Given the description of an element on the screen output the (x, y) to click on. 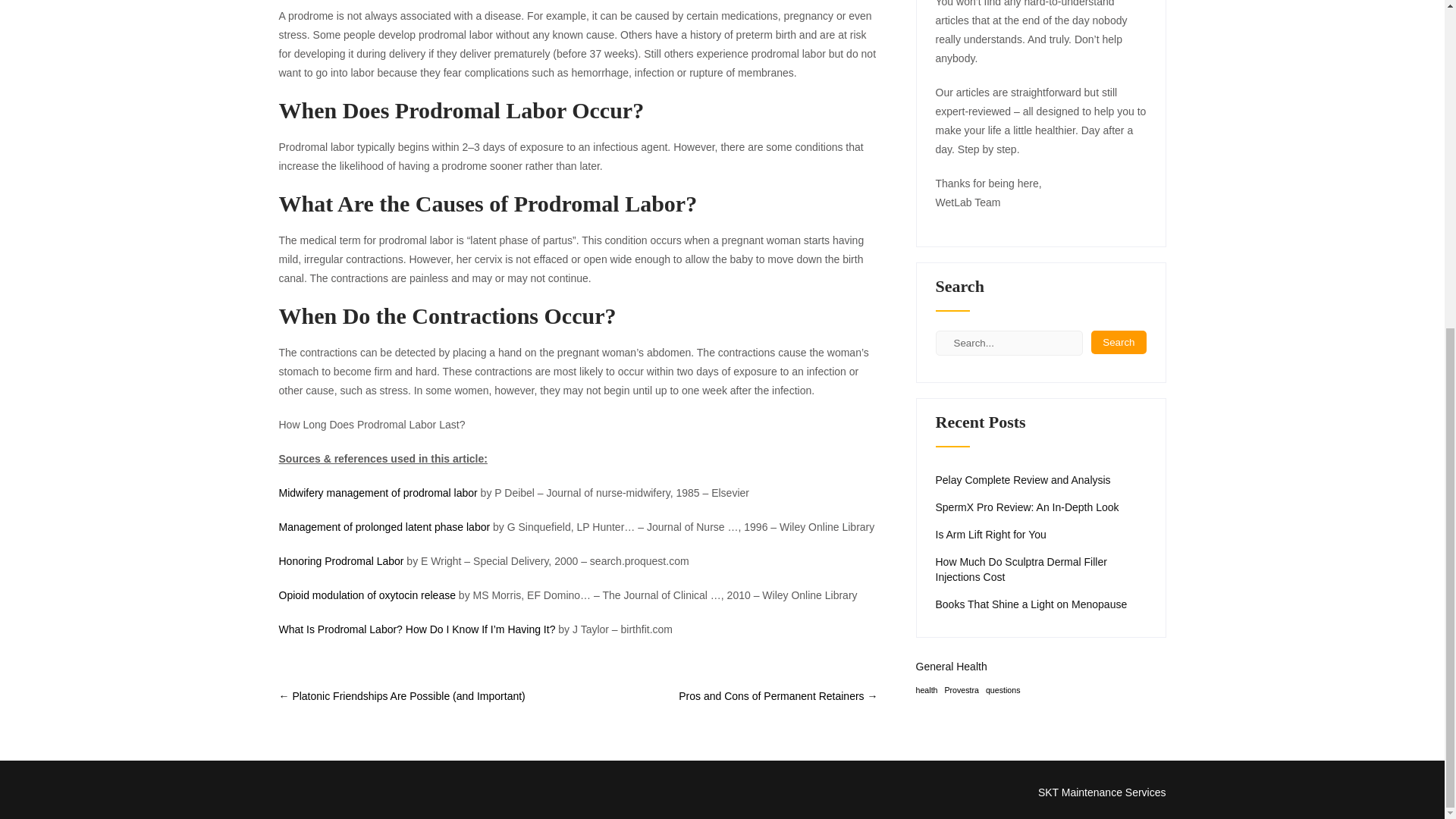
Provestra (960, 690)
Opioid modulation of oxytocin release (367, 594)
General Health (951, 666)
Search (1117, 341)
Search (1117, 341)
Pelay Complete Review and Analysis (1023, 479)
health (926, 690)
questions (1002, 690)
Books That Shine a Light on Menopause (1031, 604)
Search (1117, 341)
Is Arm Lift Right for You (991, 534)
Honoring Prodromal Labor (341, 561)
Management of prolonged latent phase labor (384, 526)
SpermX Pro Review: An In-Depth Look (1027, 507)
Midwifery management of prodromal labor (378, 492)
